Given the description of an element on the screen output the (x, y) to click on. 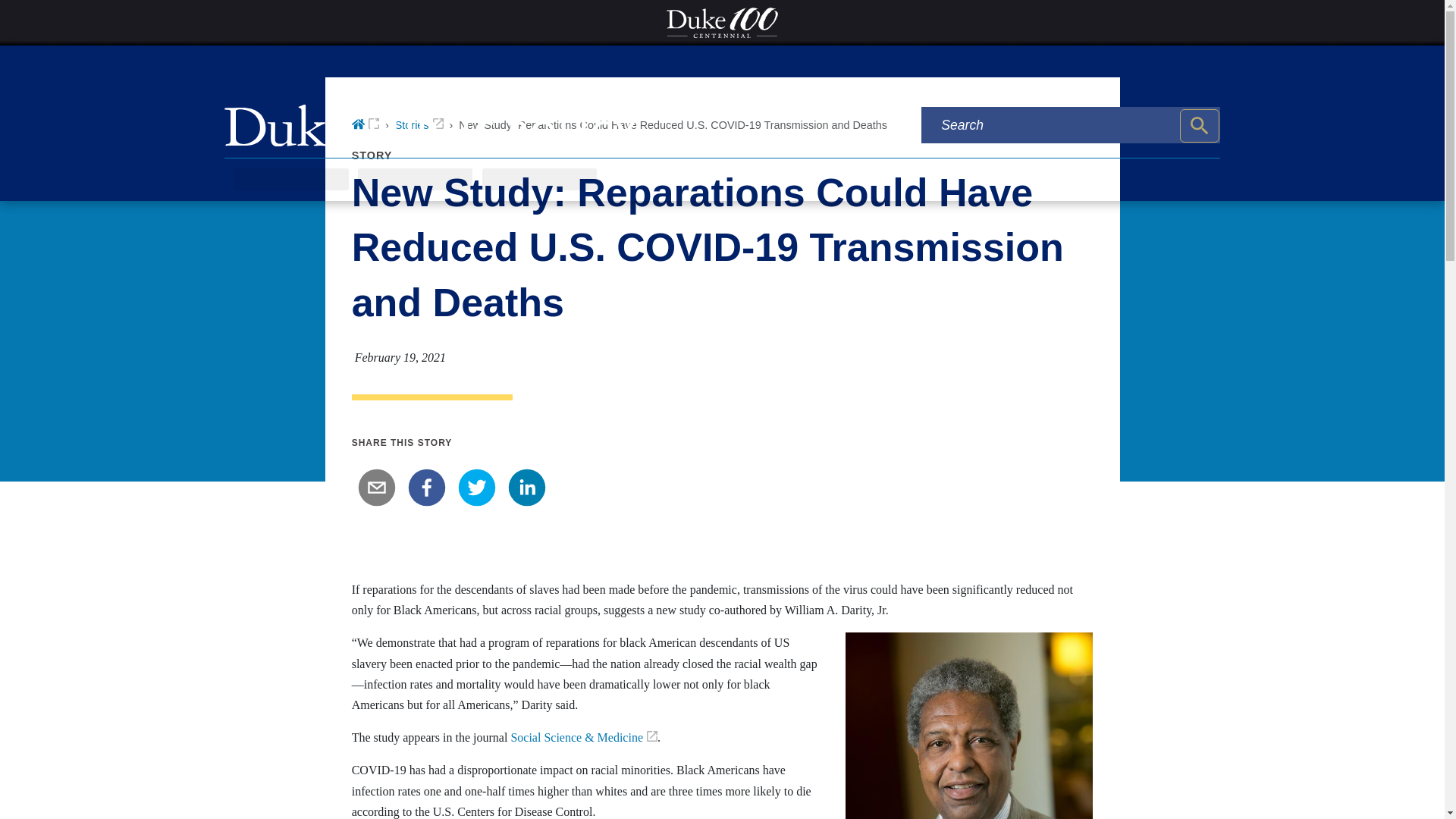
Home (365, 124)
Stories (419, 124)
